Given the description of an element on the screen output the (x, y) to click on. 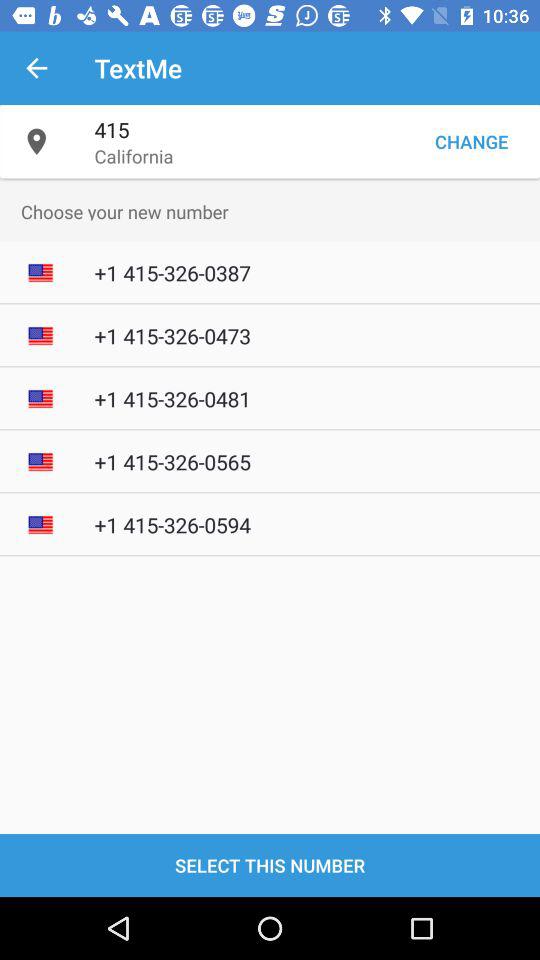
open item to the right of california item (471, 141)
